Given the description of an element on the screen output the (x, y) to click on. 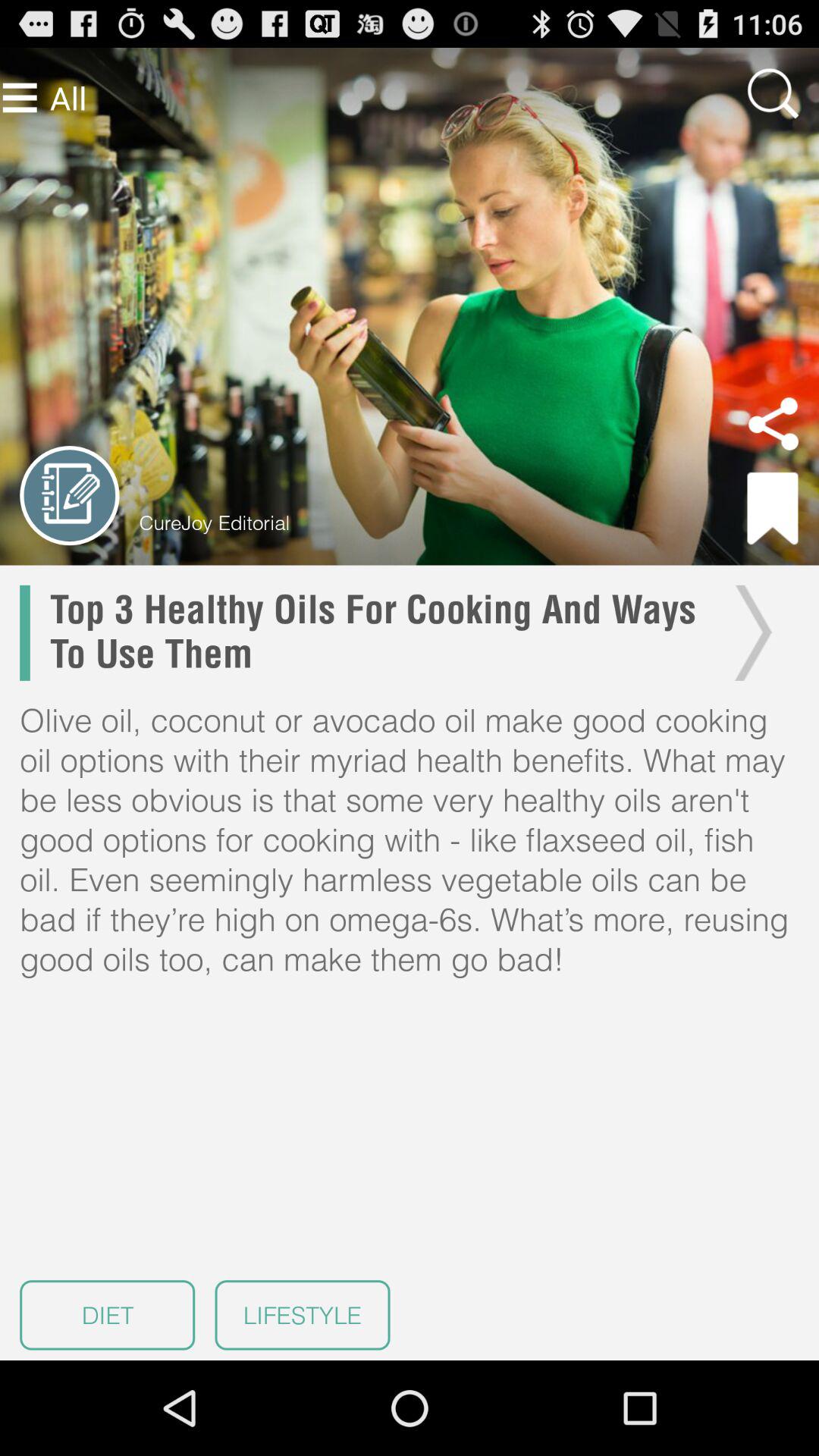
next page (749, 632)
